Given the description of an element on the screen output the (x, y) to click on. 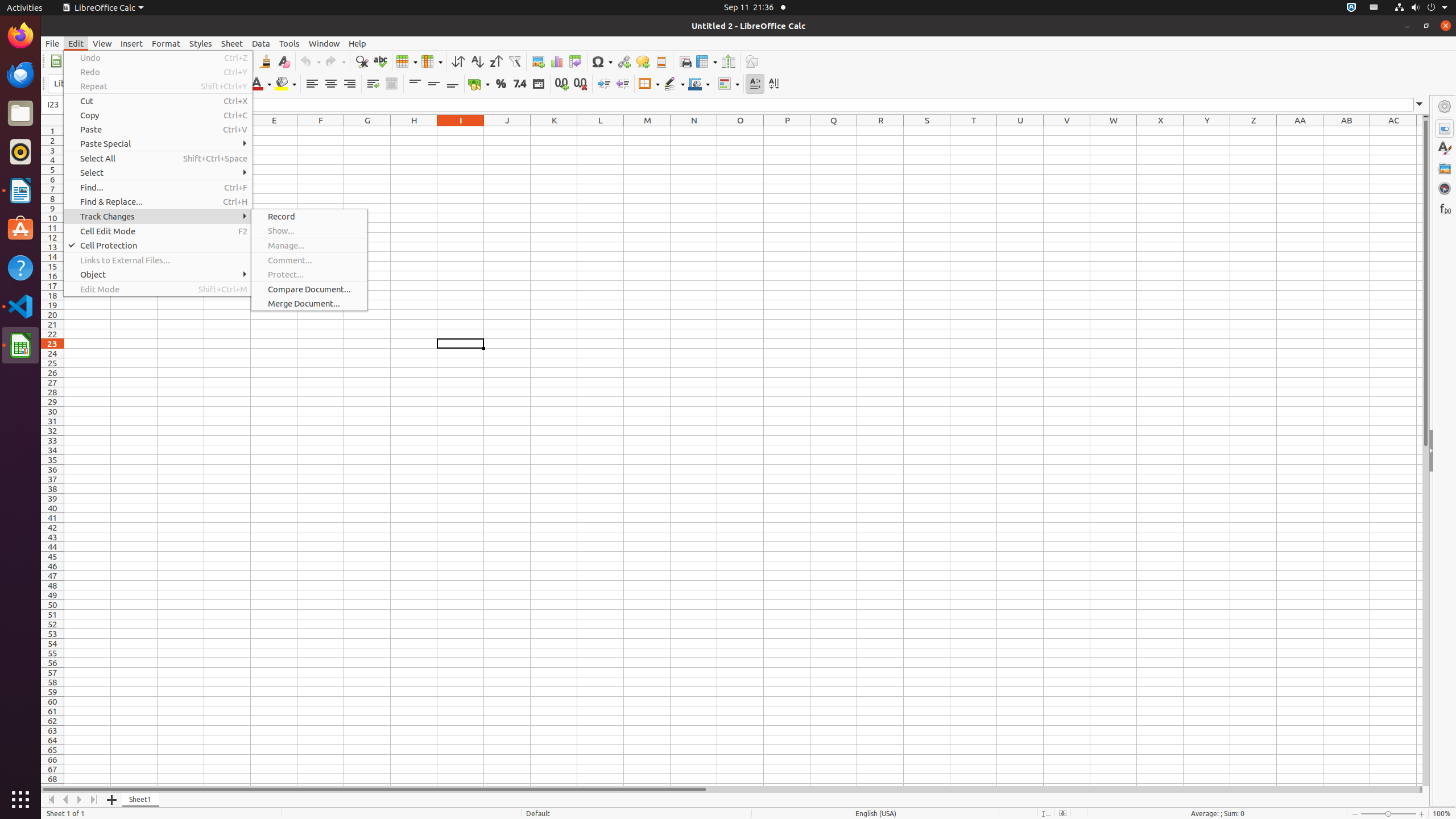
Data Element type: menu (260, 43)
File Element type: menu (51, 43)
Border Style Element type: push-button (673, 83)
Functions Element type: radio-button (1444, 208)
